Given the description of an element on the screen output the (x, y) to click on. 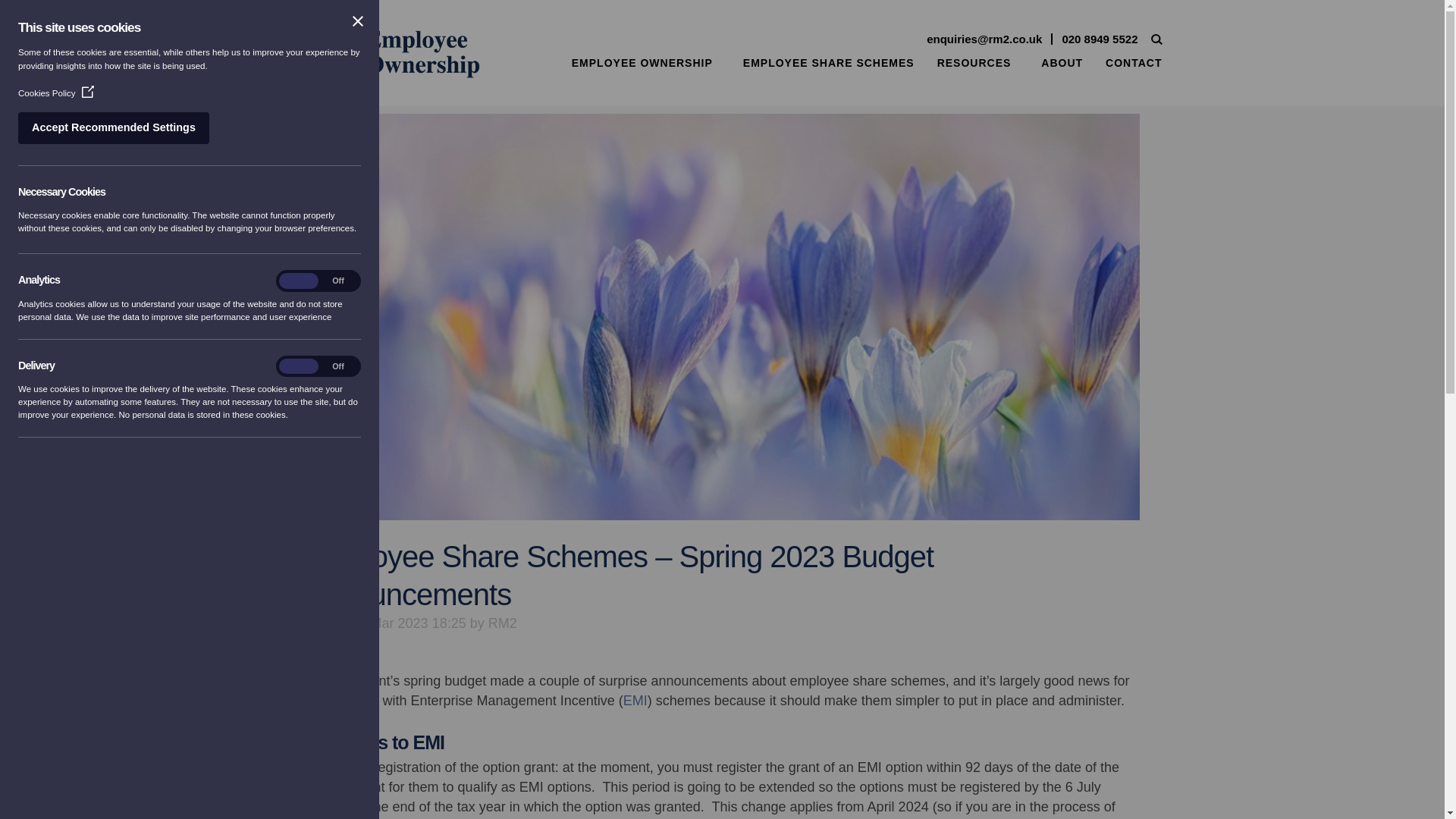
CONTACT (1129, 62)
EMI (635, 700)
RM2 (501, 622)
ABOUT (1058, 62)
020 8949 5522 (1099, 39)
EMPLOYEE SHARE SCHEMES (824, 62)
RESOURCES (974, 62)
EMPLOYEE OWNERSHIP (642, 62)
